Given the description of an element on the screen output the (x, y) to click on. 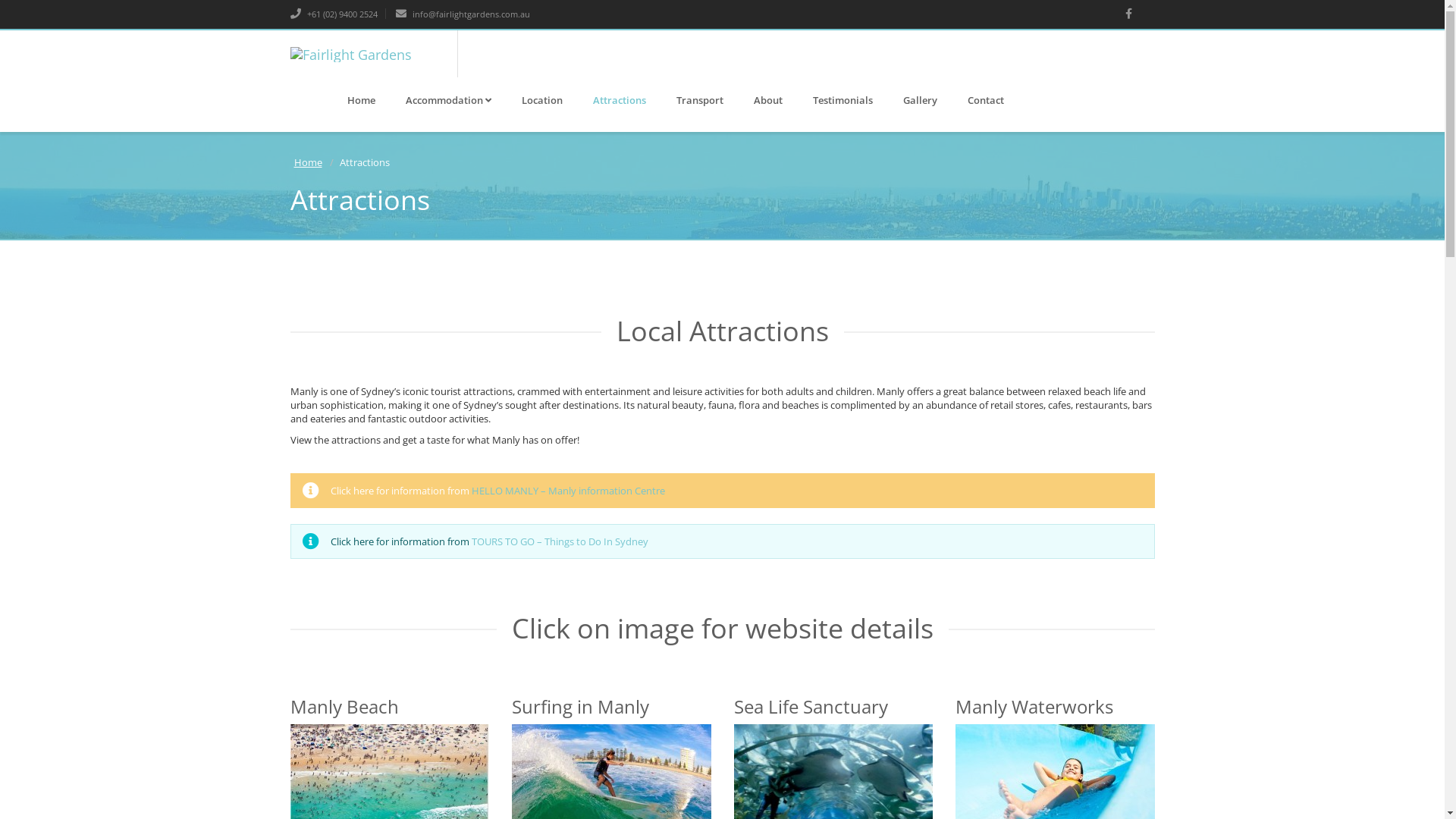
Home Element type: text (361, 99)
Surfing in Manly Element type: text (580, 705)
Attractions Element type: text (619, 99)
Gallery Element type: text (919, 99)
Manly Beach Element type: text (343, 705)
Accommodation Element type: text (447, 99)
About Element type: text (767, 99)
info@fairlightgardens.com.au Element type: text (462, 13)
Home Element type: text (307, 162)
+61 (02) 9400 2524 Element type: text (332, 13)
Transport Element type: text (699, 99)
Location Element type: text (541, 99)
Testimonials Element type: text (842, 99)
Contact Element type: text (985, 99)
